Given the description of an element on the screen output the (x, y) to click on. 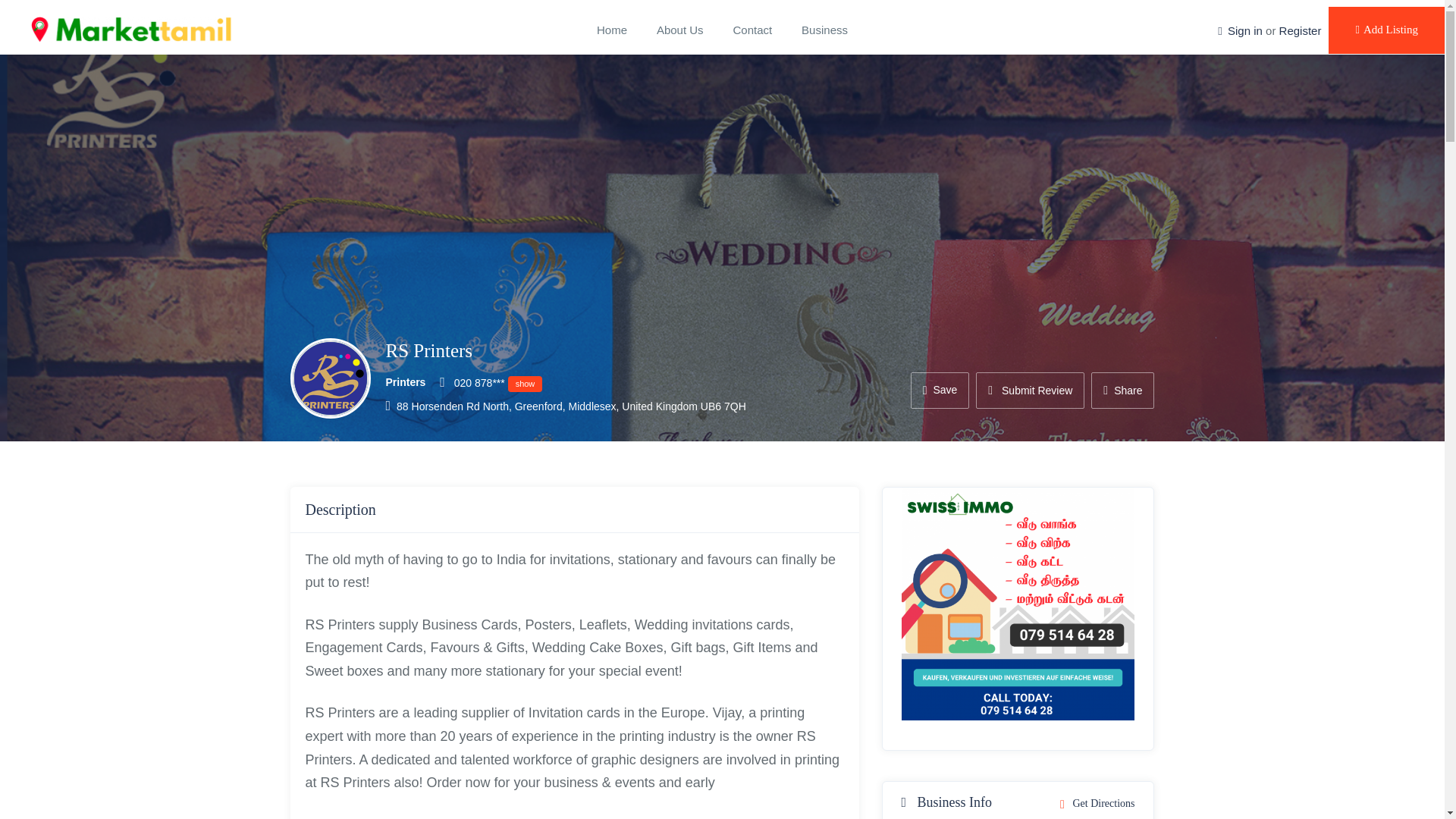
Save (940, 389)
Register (1300, 30)
markettamil (130, 29)
About Us (680, 29)
Share (1122, 389)
Business (824, 29)
Printers (405, 381)
Social Share (1122, 389)
Submit Review (1029, 389)
Sign in (1244, 30)
Contact (752, 29)
Home (611, 29)
